Given the description of an element on the screen output the (x, y) to click on. 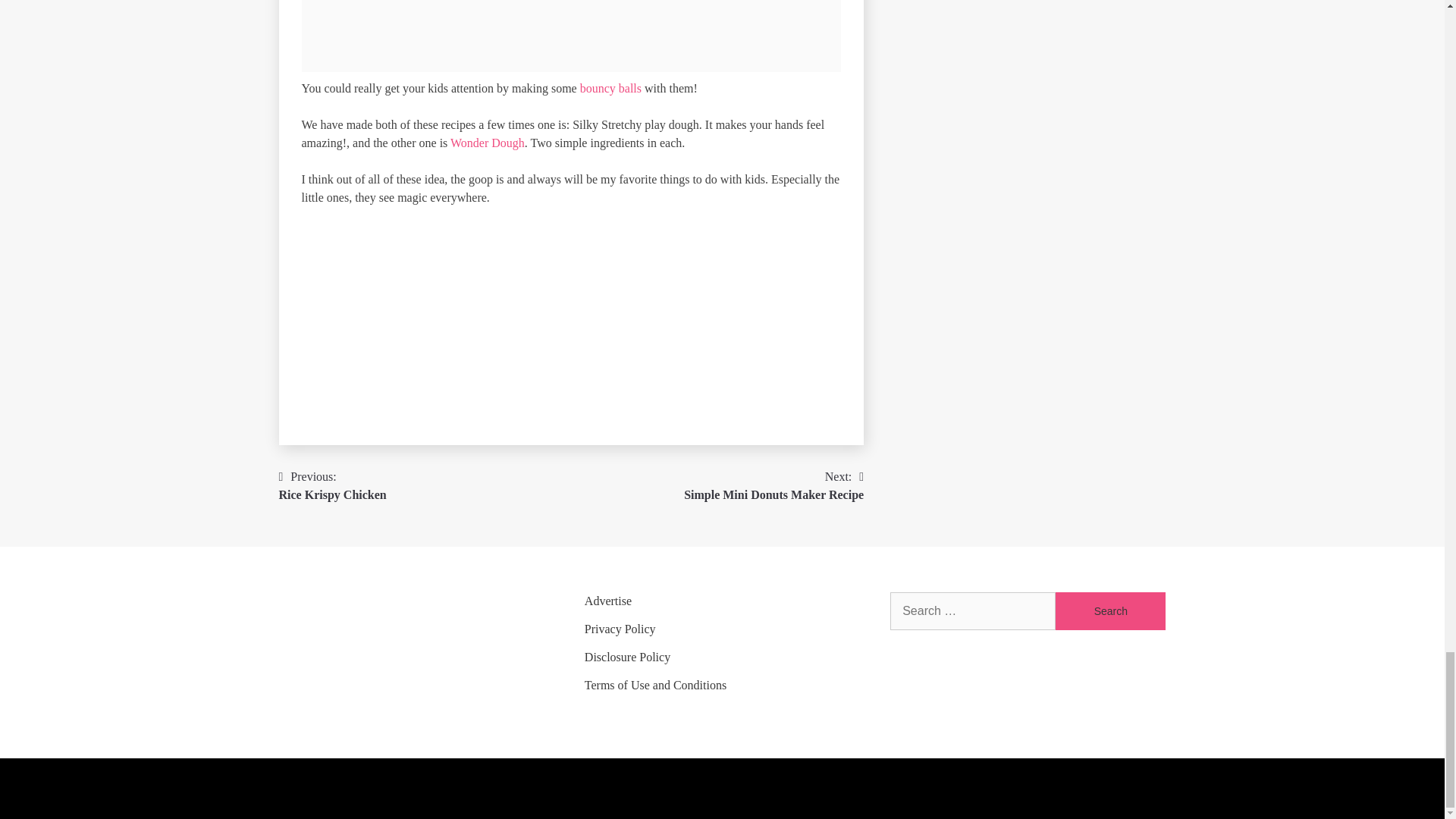
Search (1110, 610)
Search (1110, 610)
